Given the description of an element on the screen output the (x, y) to click on. 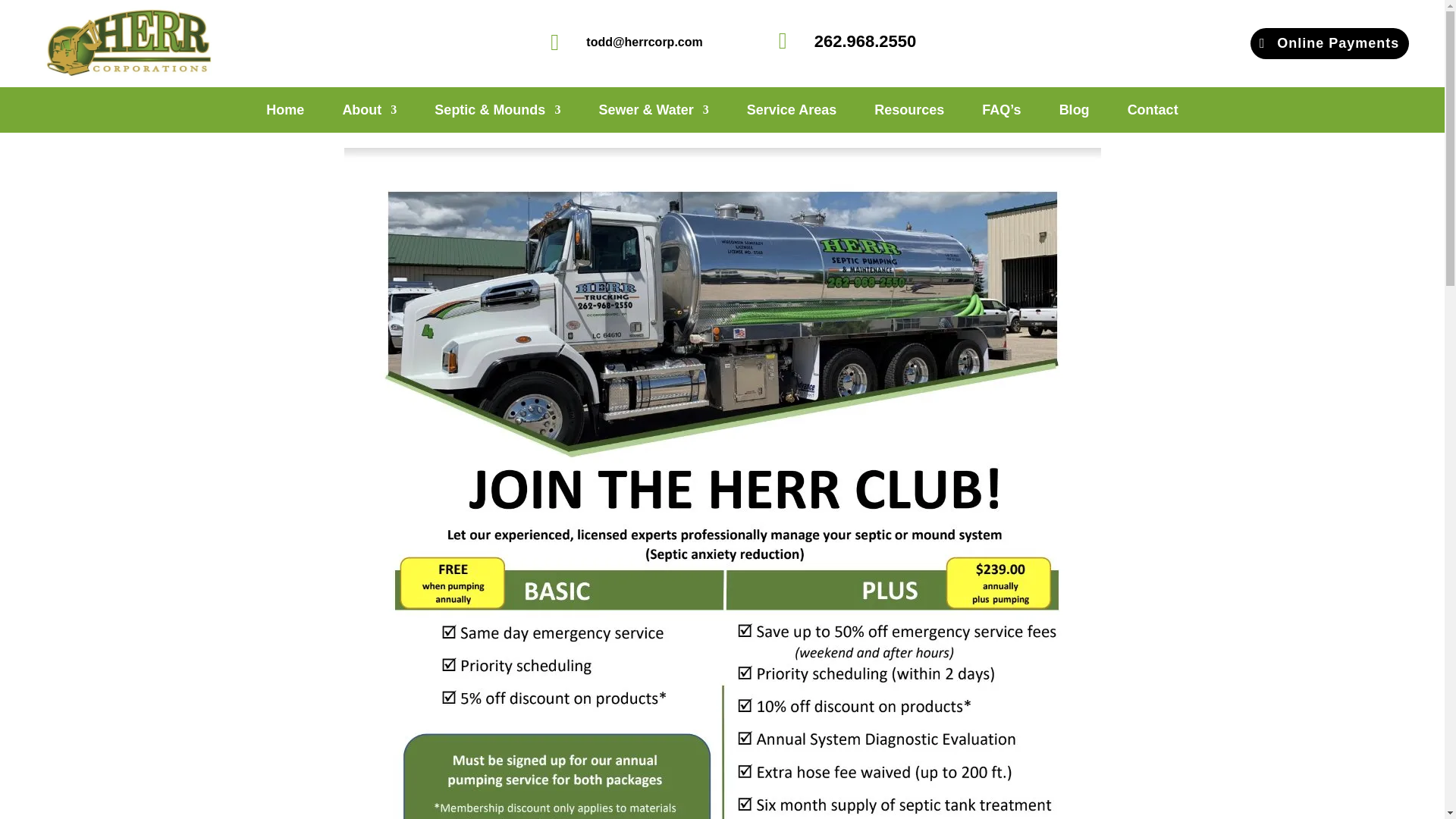
Blog (1074, 112)
262.968.2550 (865, 40)
About (369, 112)
Contact (1151, 112)
Home (285, 112)
Resources (909, 112)
logo-red-255 (125, 43)
Service Areas (790, 112)
Online Payments (1329, 42)
